Given the description of an element on the screen output the (x, y) to click on. 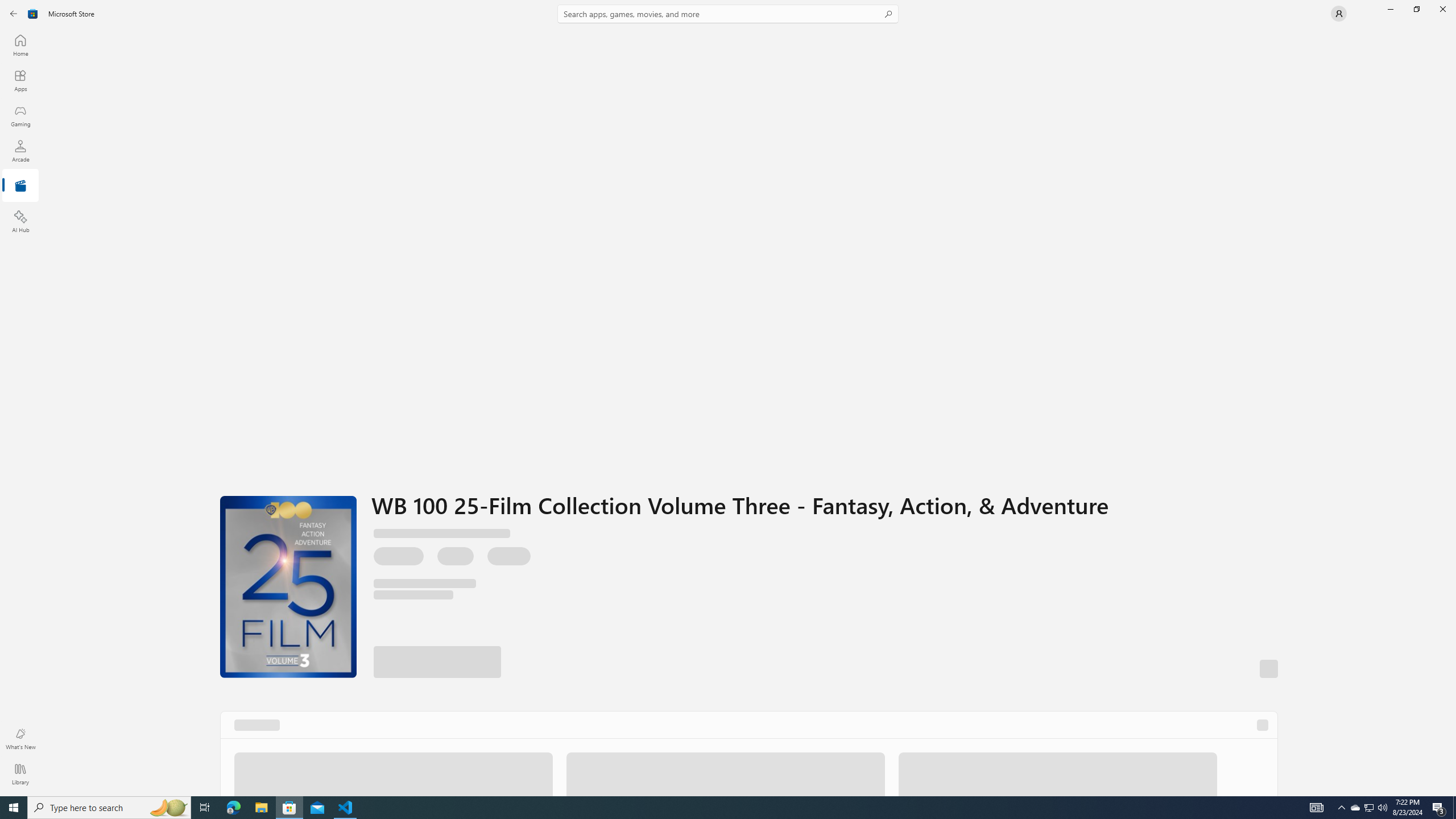
Entertainment (20, 185)
Restore Microsoft Store (1416, 9)
AI Hub (20, 221)
Close Microsoft Store (1442, 9)
What's New (20, 738)
Apps (20, 80)
Arcade (20, 150)
AutomationID: NavigationControl (728, 398)
Gaming (20, 115)
User profile (1338, 13)
Home (20, 45)
Class: Image (32, 13)
Search (727, 13)
Library (20, 773)
Minimize Microsoft Store (1390, 9)
